Given the description of an element on the screen output the (x, y) to click on. 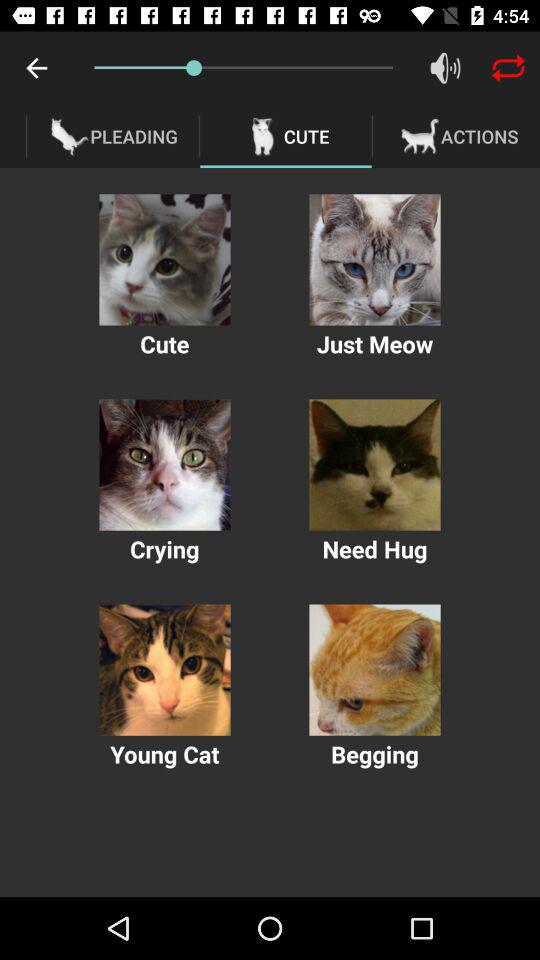
view additional cat info (374, 259)
